Given the description of an element on the screen output the (x, y) to click on. 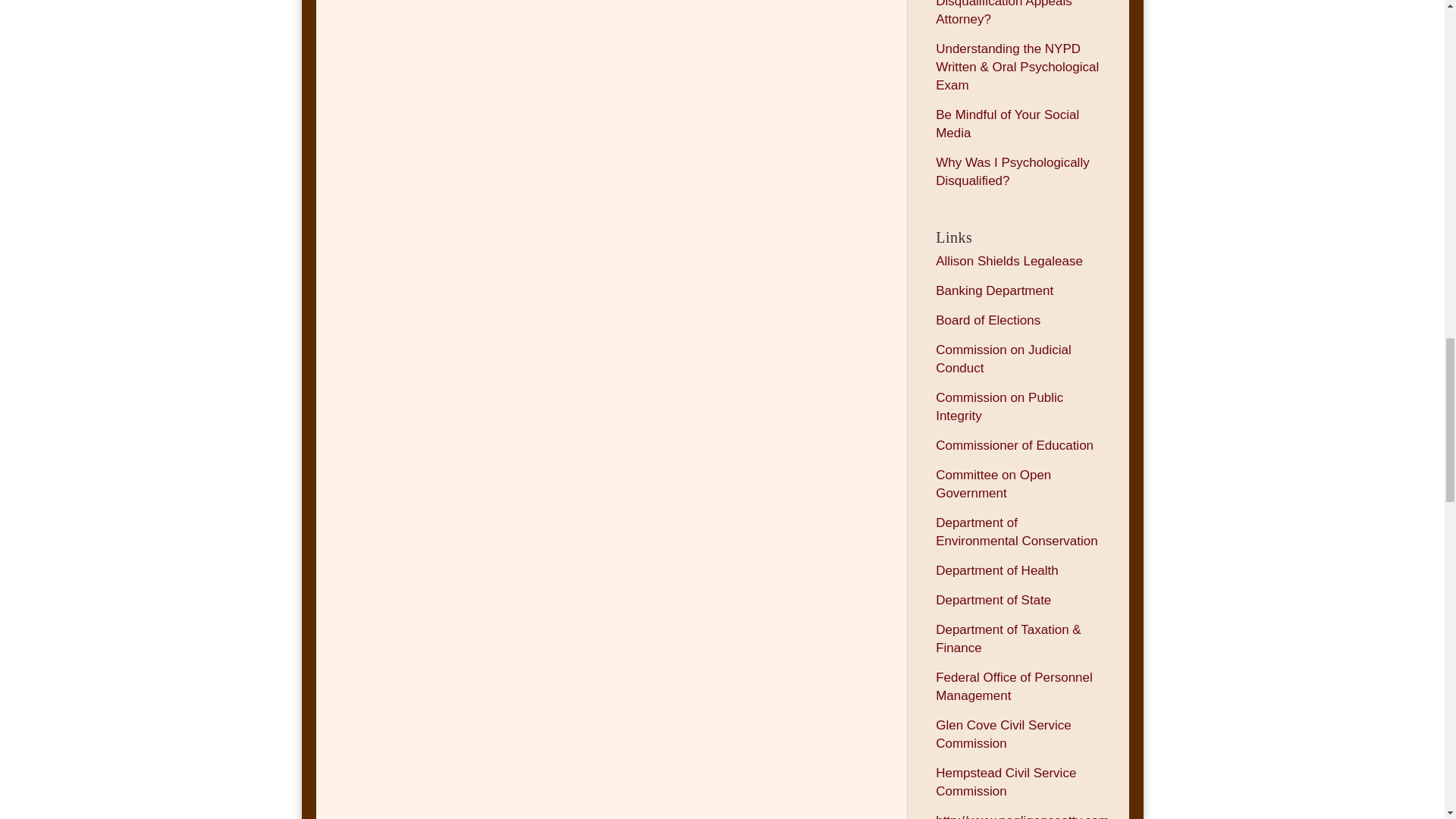
Federal Office of Personnel Management (1014, 686)
Glen Cove Civil Service Commission (1003, 734)
Hempstead Civil Service Commission information (1005, 781)
